Given the description of an element on the screen output the (x, y) to click on. 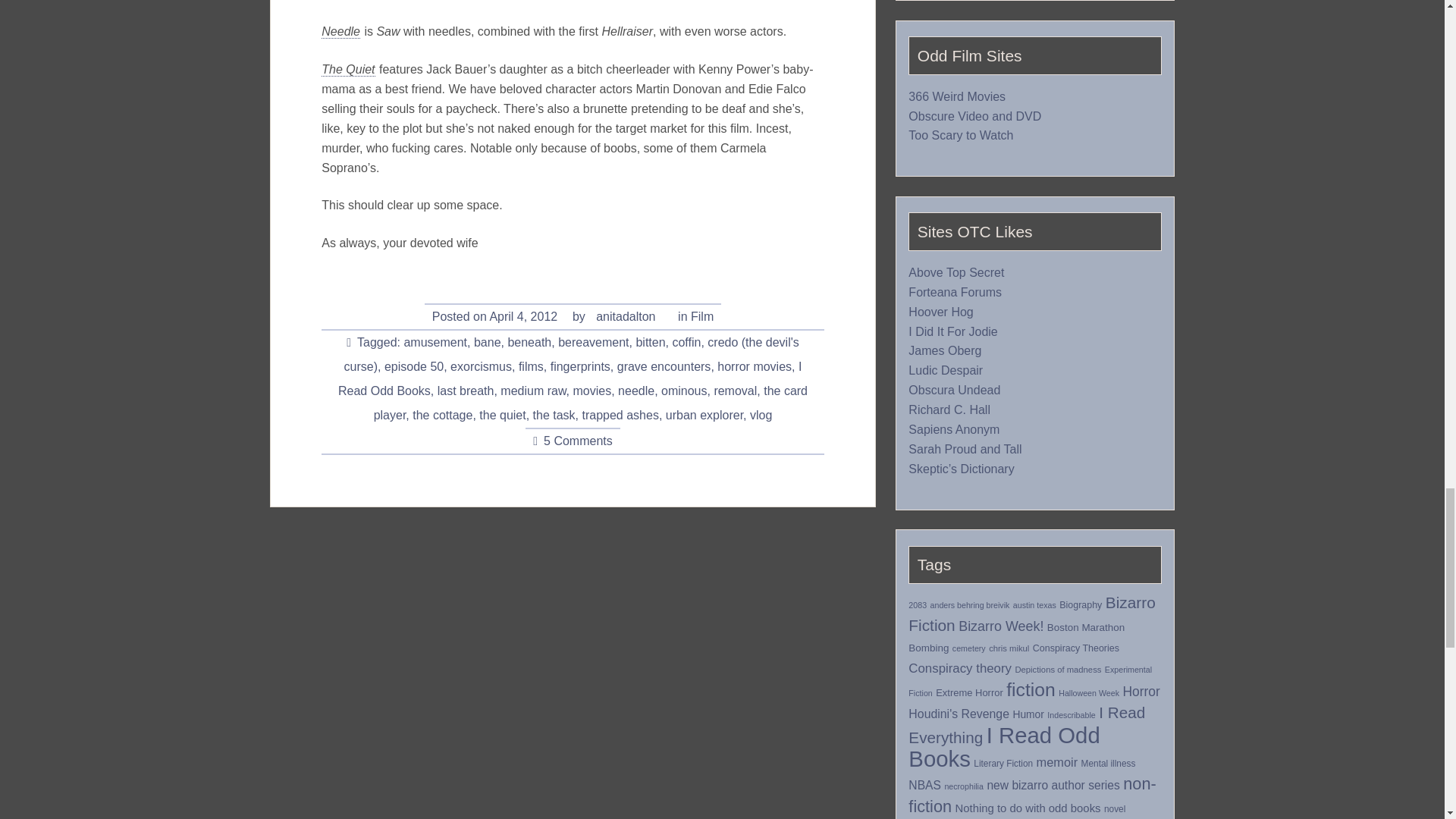
The Quiet (347, 69)
bereavement (592, 342)
anitadalton (625, 316)
April 4, 2012 (523, 316)
beneath (528, 342)
Needle (340, 31)
amusement (435, 342)
bane (487, 342)
Film (701, 316)
bitten (649, 342)
